Given the description of an element on the screen output the (x, y) to click on. 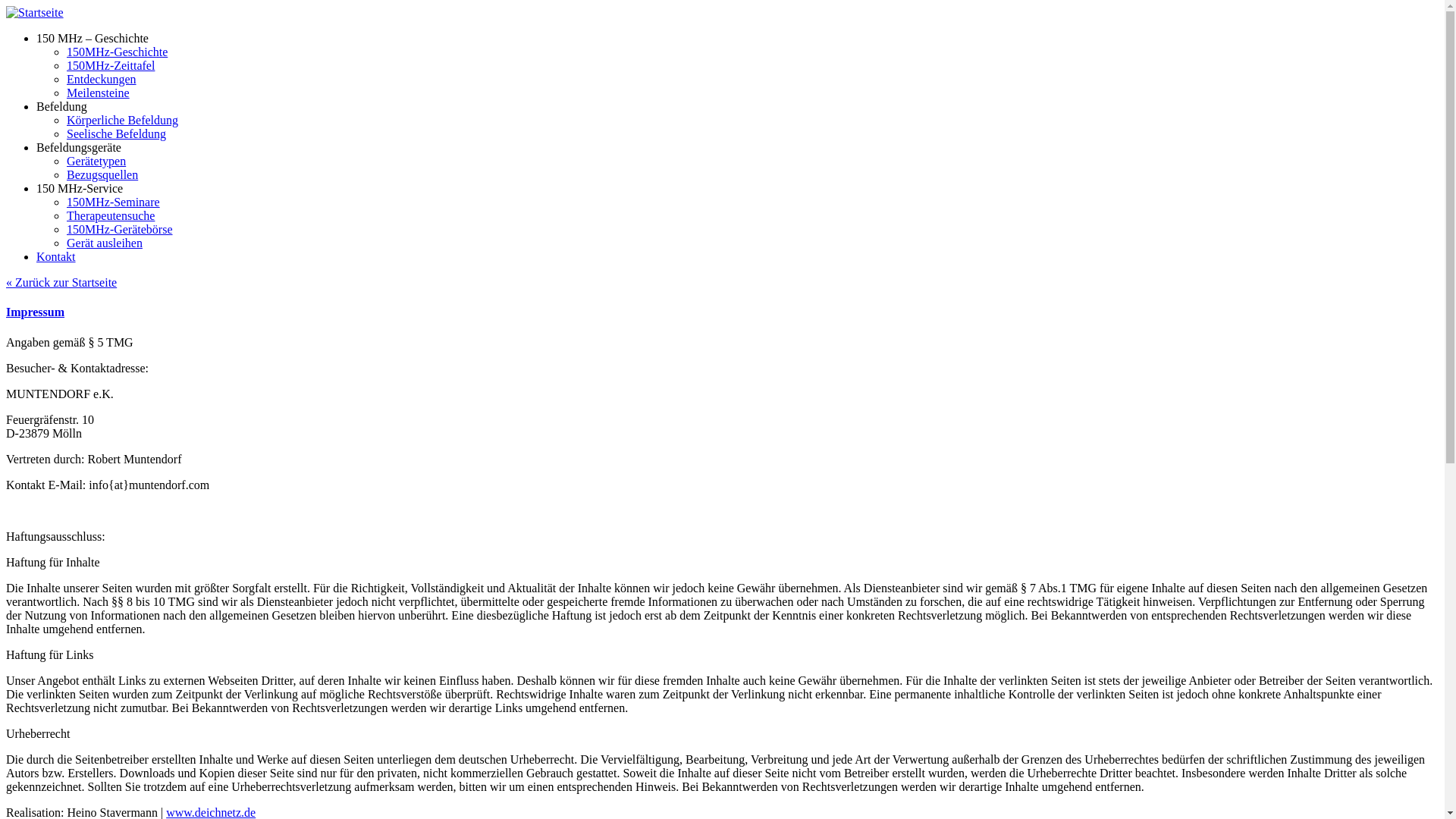
Impressum Element type: text (35, 311)
Startseite Element type: hover (34, 12)
Therapeutensuche Element type: text (110, 215)
150MHz-Seminare Element type: text (113, 201)
Befeldung Element type: text (61, 106)
Seelische Befeldung Element type: text (116, 133)
Bezugsquellen Element type: text (102, 174)
150 MHz-Service Element type: text (79, 188)
150MHz-Zeittafel Element type: text (110, 65)
Meilensteine Element type: text (97, 92)
Entdeckungen Element type: text (101, 78)
Kontakt Element type: text (55, 256)
150MHz-Geschichte Element type: text (116, 51)
